Given the description of an element on the screen output the (x, y) to click on. 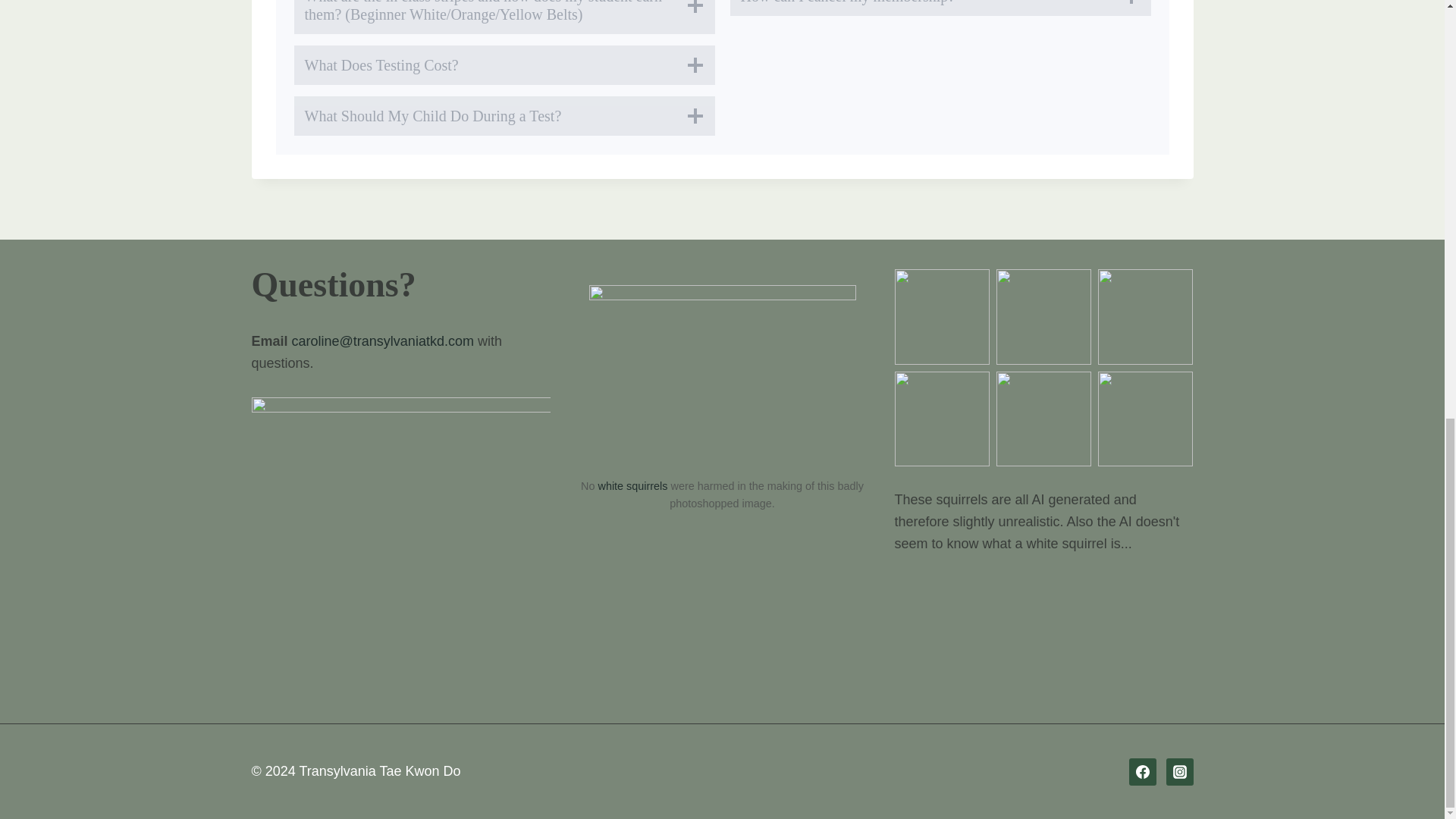
white squirrels (633, 485)
What Should My Child Do During a Test? (504, 115)
What Does Testing Cost? (504, 65)
How can I cancel my membership? (939, 7)
